Given the description of an element on the screen output the (x, y) to click on. 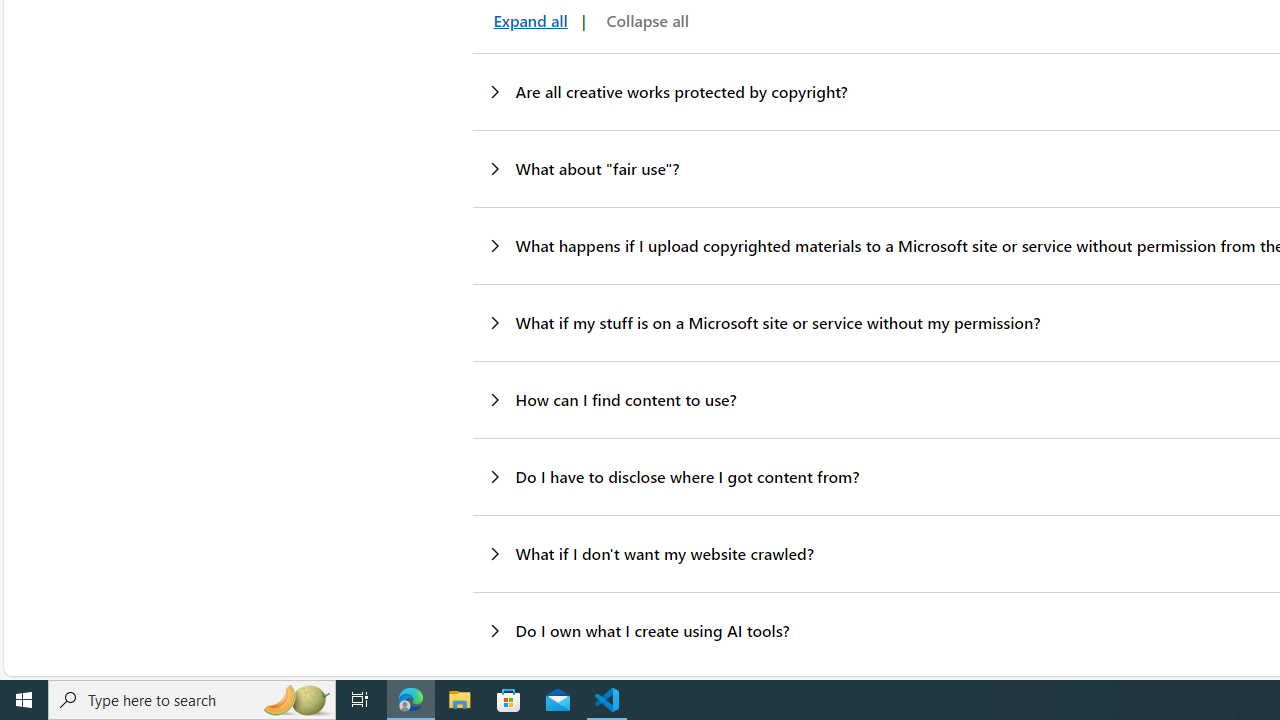
 Collapse all (643, 20)
 Expand all (527, 20)
